Given the description of an element on the screen output the (x, y) to click on. 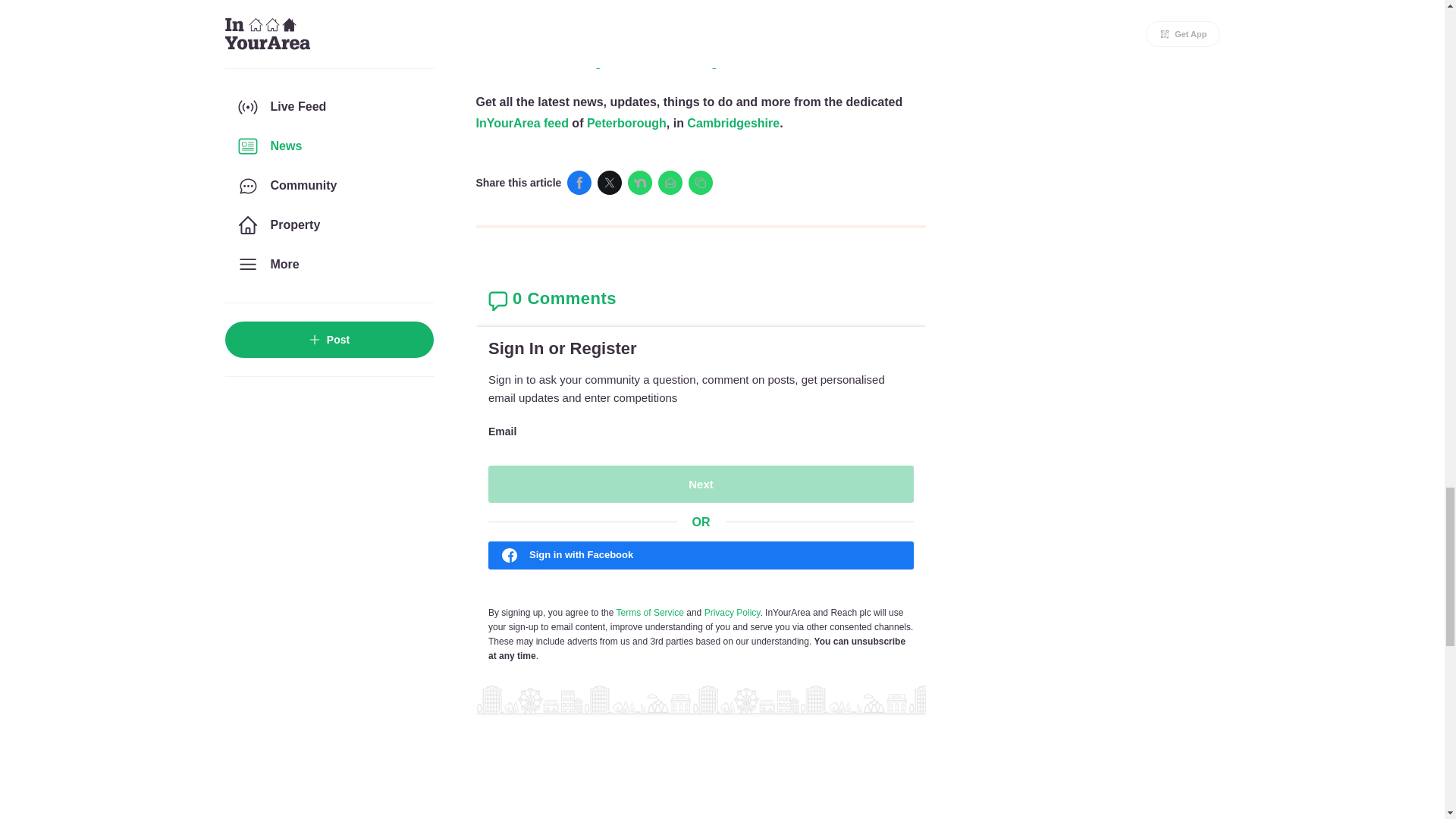
Share to X (608, 182)
Share to Facebook (579, 182)
Share to email (670, 182)
Copy to clipboard (700, 182)
Share to Nextdoor (639, 182)
